Given the description of an element on the screen output the (x, y) to click on. 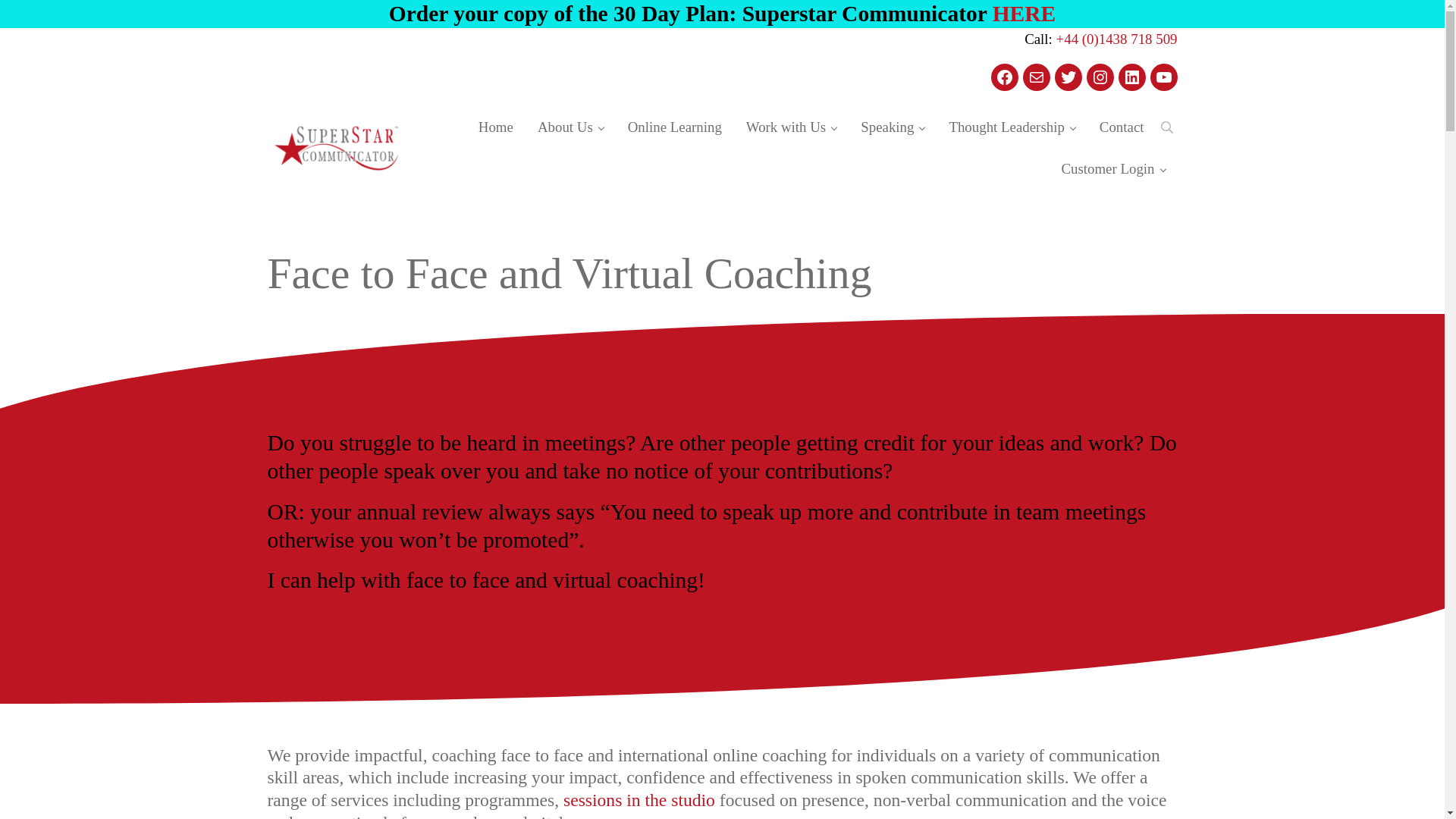
LinkedIn (1131, 76)
Instagram (1099, 76)
Thought Leadership (1011, 127)
Contact (1121, 127)
HERE (1024, 13)
Customer Login (1112, 168)
Mail (1035, 76)
About Us (570, 127)
Work with Us (790, 127)
Facebook (1003, 76)
Speaking (892, 127)
Online Learning (674, 127)
Home (495, 127)
YouTube (1163, 76)
